Given the description of an element on the screen output the (x, y) to click on. 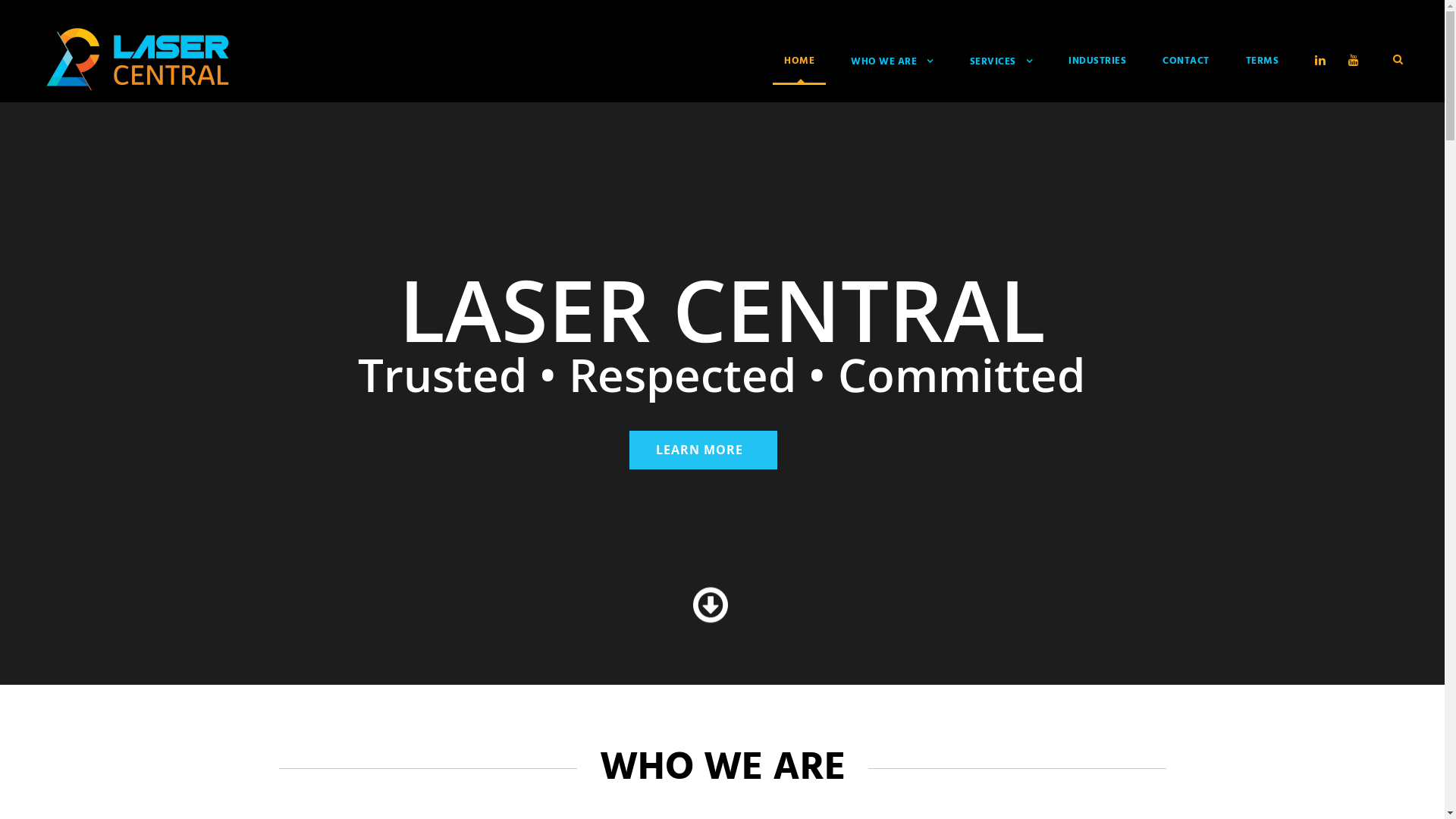
LEARN MORE Element type: text (703, 449)
INDUSTRIES Element type: text (1097, 68)
linkedin Element type: hover (1323, 59)
CONTACT Element type: text (1185, 68)
youtube Element type: hover (1357, 59)
WHO WE ARE Element type: text (891, 68)
HOME Element type: text (799, 68)
SERVICES Element type: text (1000, 68)
TERMS Element type: text (1261, 68)
